Given the description of an element on the screen output the (x, y) to click on. 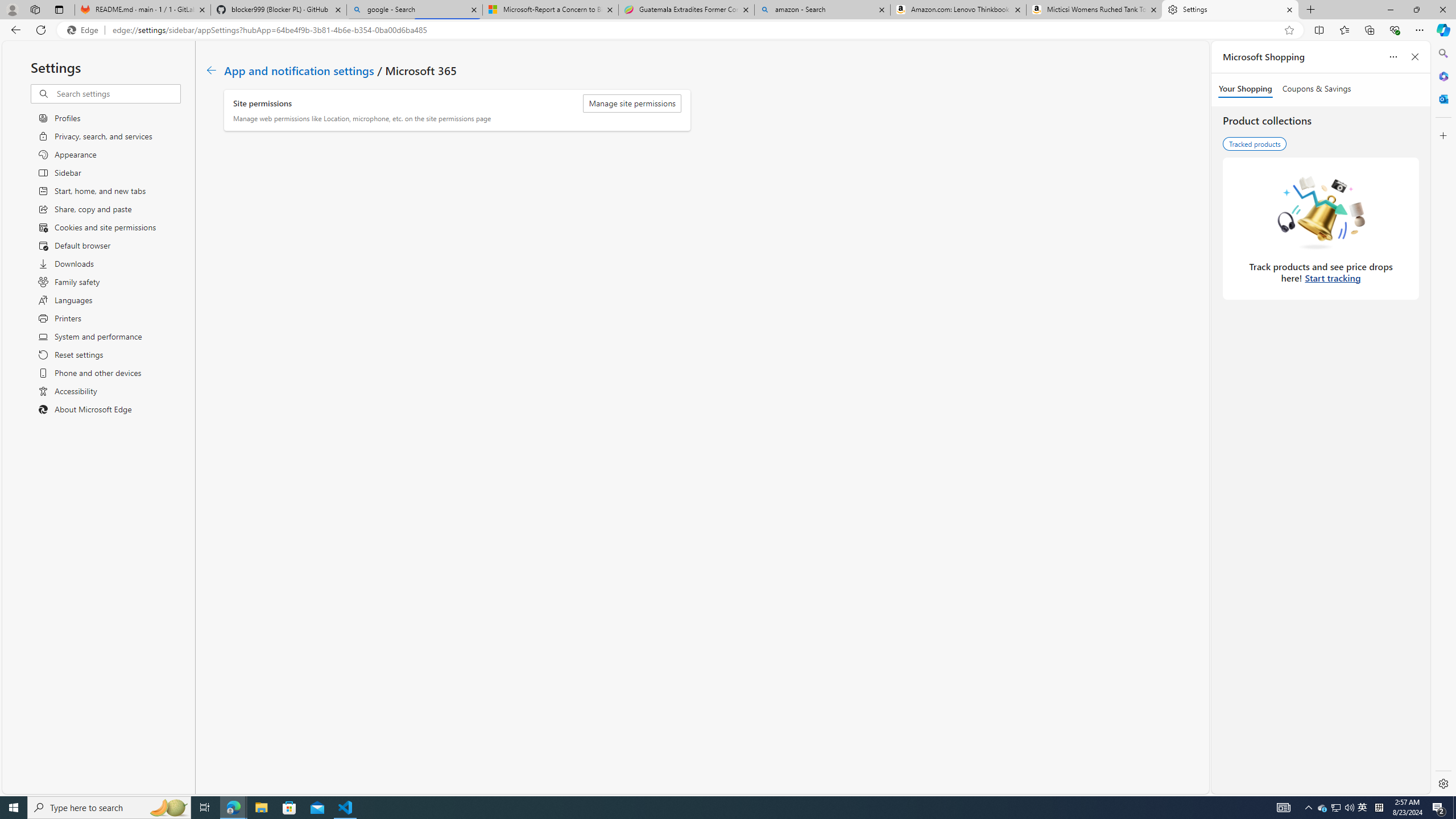
Edge (84, 29)
Manage site permissions (631, 103)
Go back to App and notification settings page. (210, 70)
Class: c01182 (210, 70)
amazon - Search (822, 9)
